Given the description of an element on the screen output the (x, y) to click on. 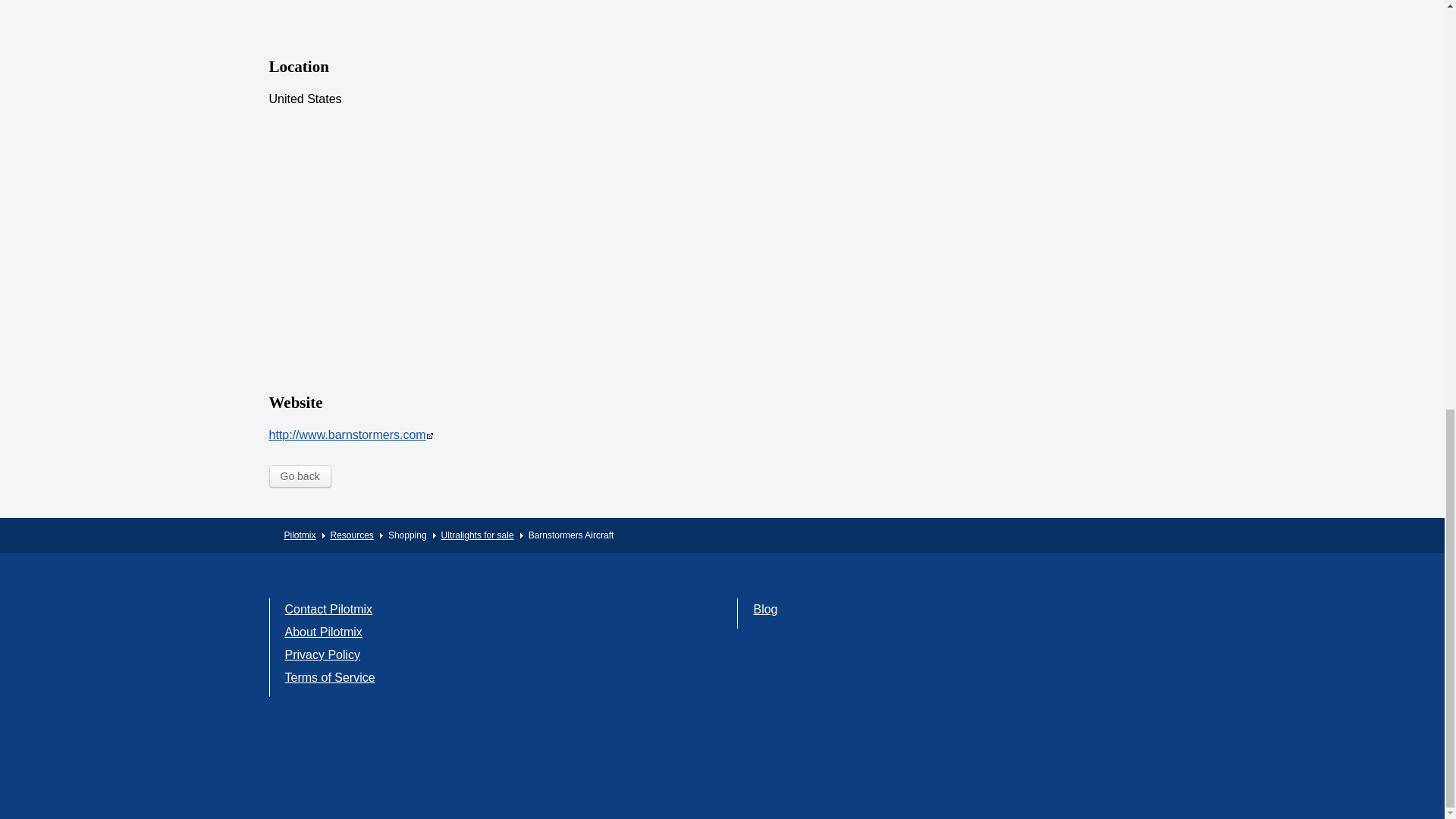
Advertisement (419, 14)
Advertisement (863, 398)
